Given the description of an element on the screen output the (x, y) to click on. 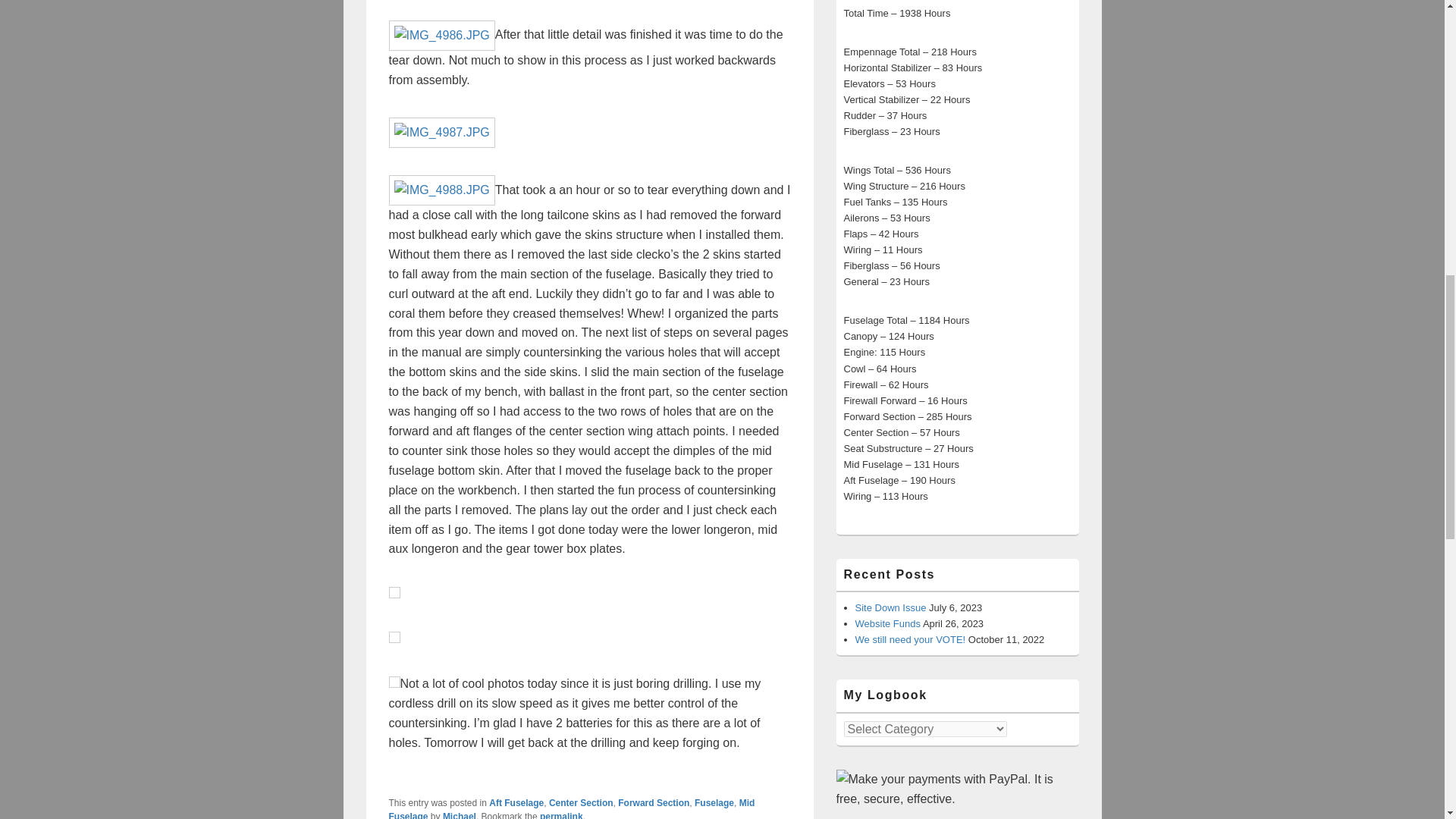
Forward Section (652, 802)
permalink (561, 815)
Website Funds (888, 623)
Aft Fuselage (516, 802)
Permalink to Build it up, Tear it down (561, 815)
Center Section (580, 802)
Site Down Issue (891, 607)
We still need your VOTE! (911, 639)
Michael (459, 815)
Fuselage (713, 802)
Mid Fuselage (571, 808)
